Given the description of an element on the screen output the (x, y) to click on. 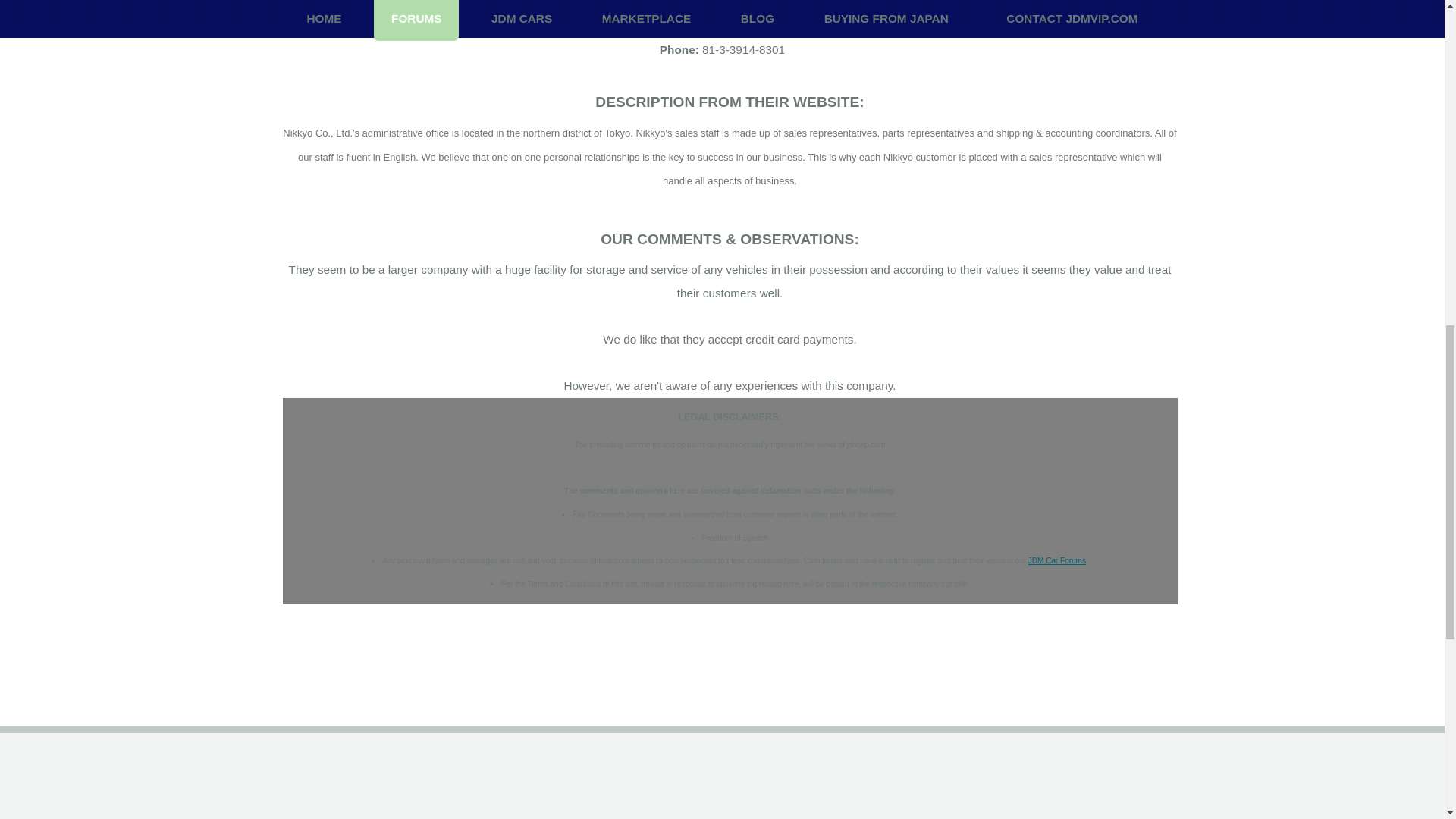
JDM Car Forums (1056, 560)
